Given the description of an element on the screen output the (x, y) to click on. 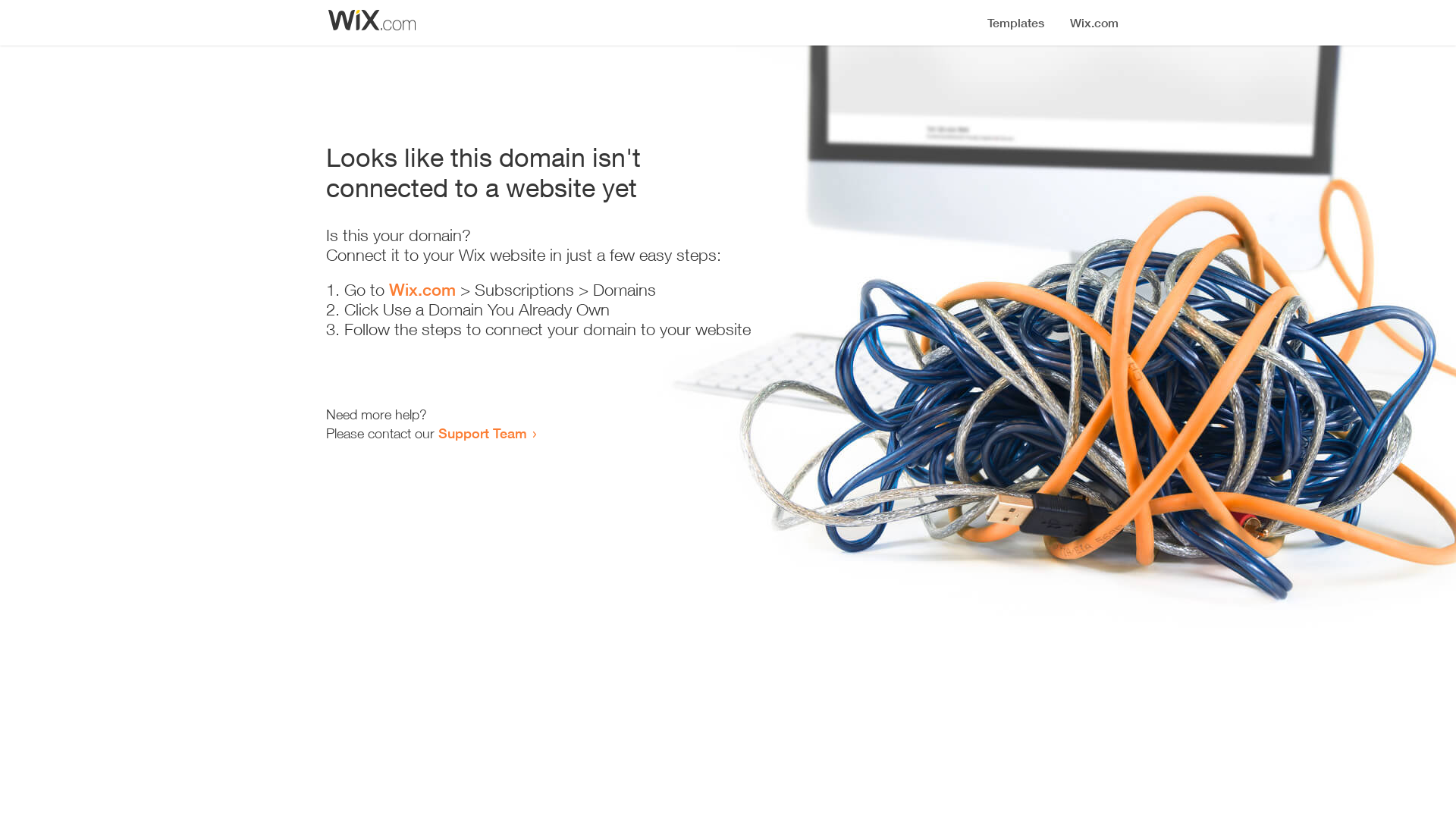
Support Team Element type: text (482, 432)
Wix.com Element type: text (422, 289)
